Given the description of an element on the screen output the (x, y) to click on. 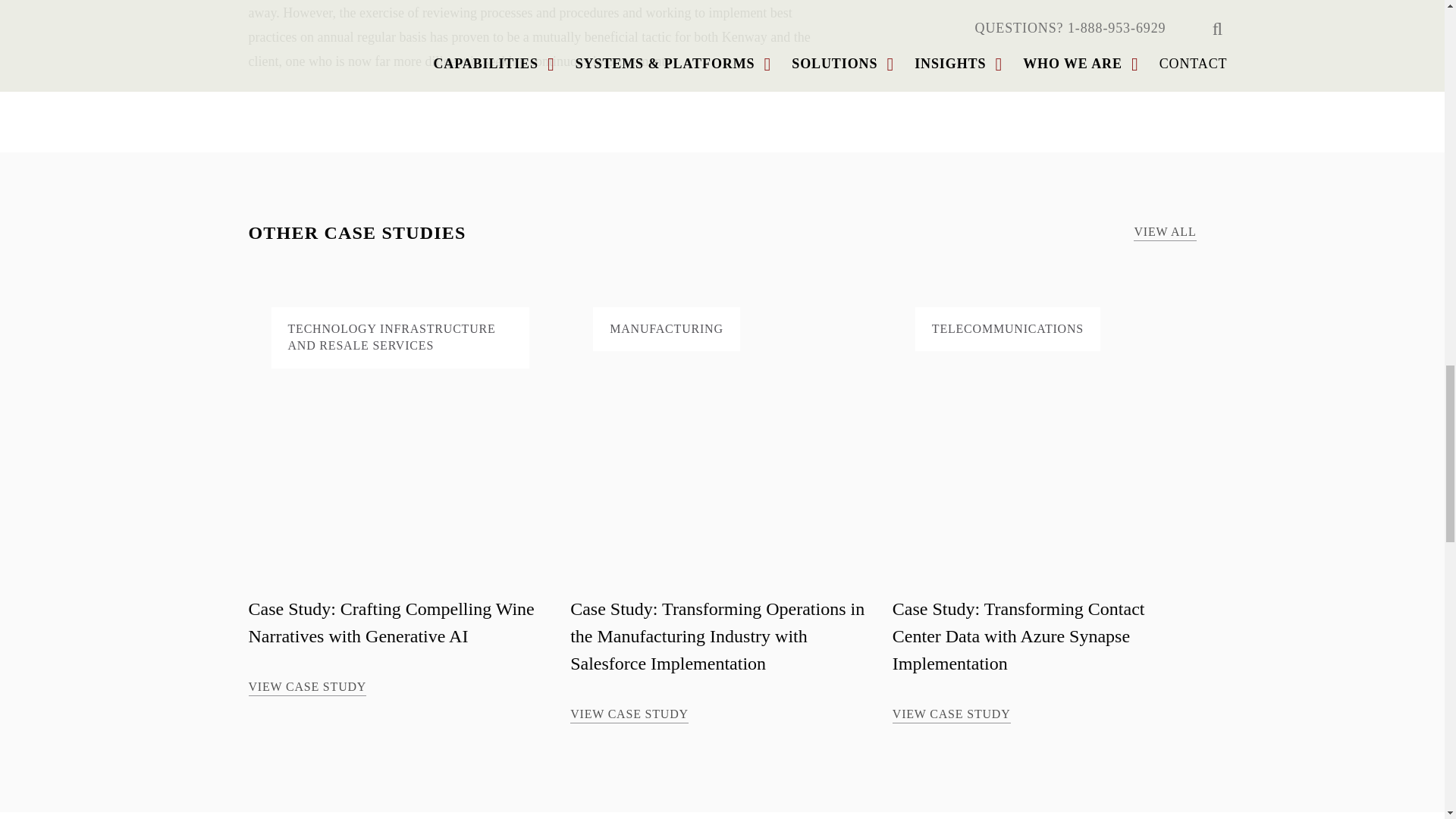
VIEW ALL (1164, 233)
